Given the description of an element on the screen output the (x, y) to click on. 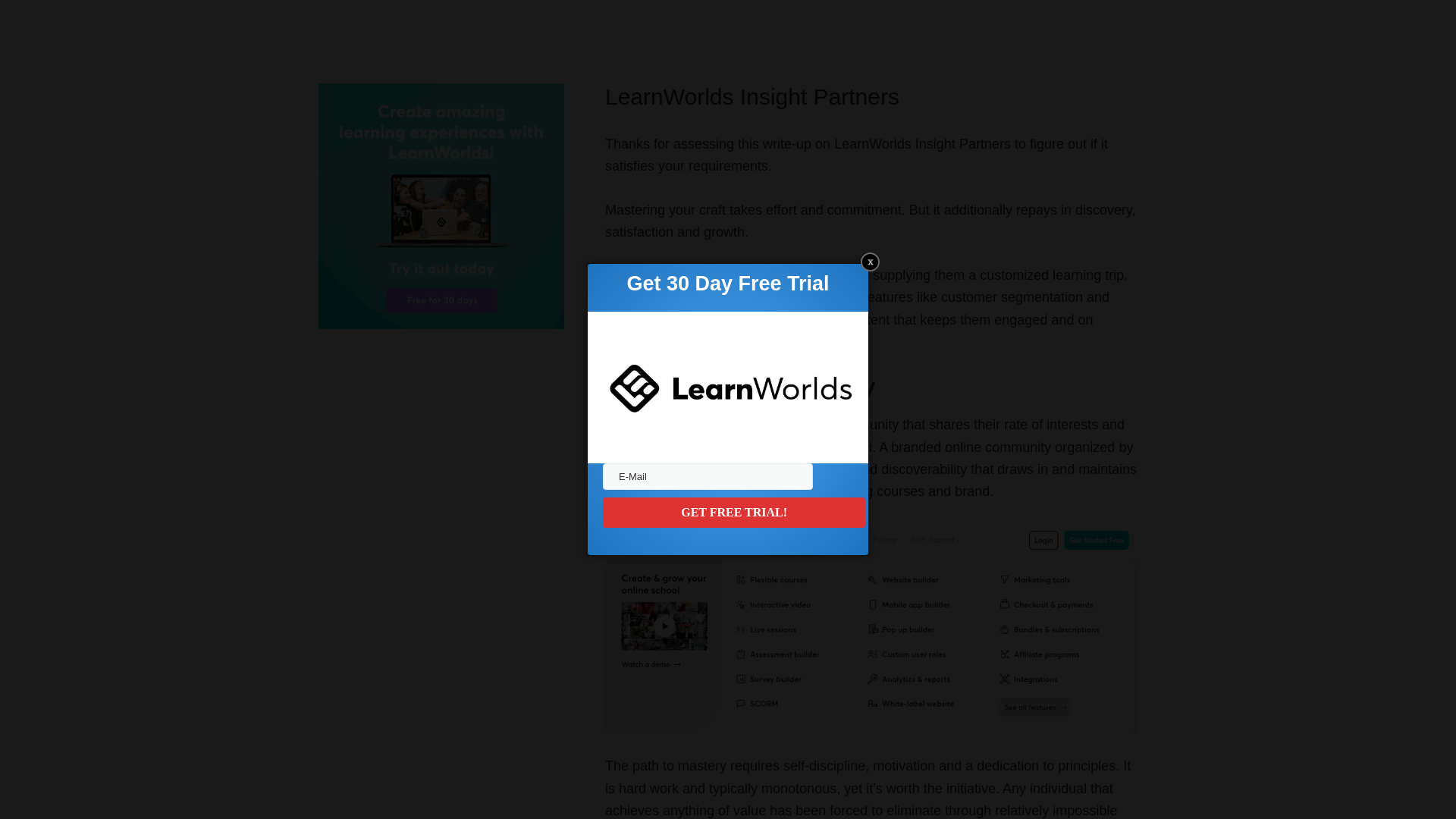
GET FREE TRIAL! (733, 512)
GET FREE TRIAL! (733, 512)
